Given the description of an element on the screen output the (x, y) to click on. 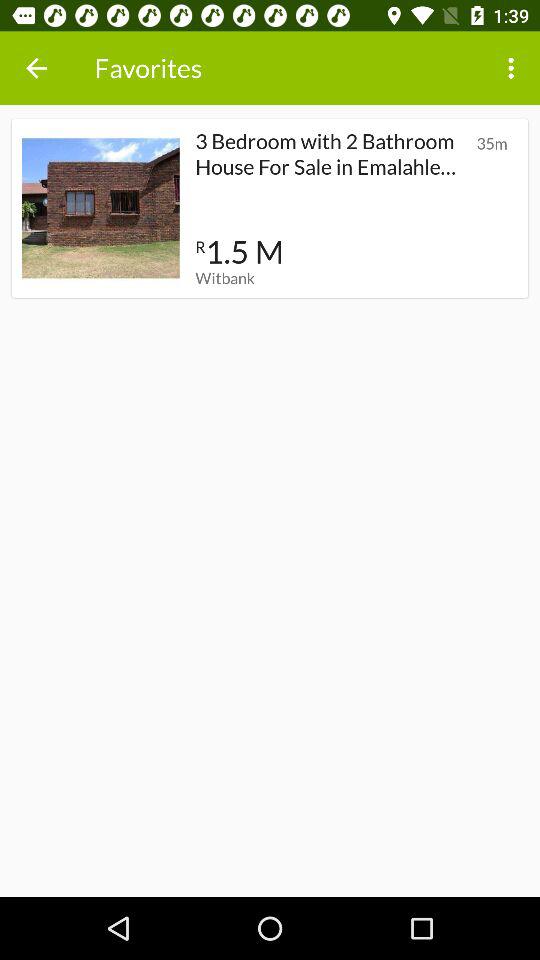
turn on the item above 35m (513, 67)
